Given the description of an element on the screen output the (x, y) to click on. 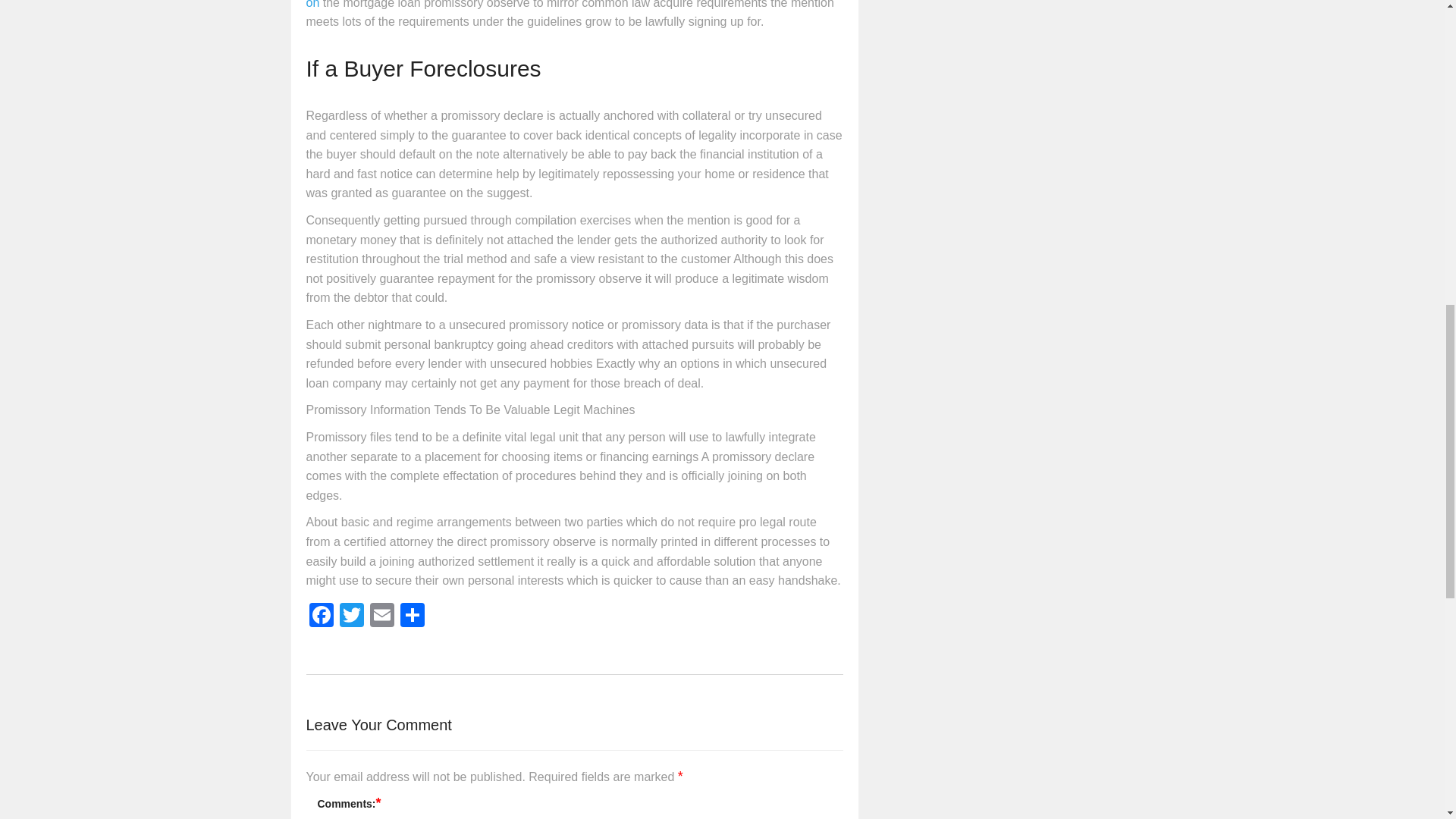
Twitter (351, 616)
online payday loans Fremont on (566, 4)
Email (381, 616)
Facebook (320, 616)
Email (381, 616)
Twitter (351, 616)
Facebook (320, 616)
Share (412, 616)
